Given the description of an element on the screen output the (x, y) to click on. 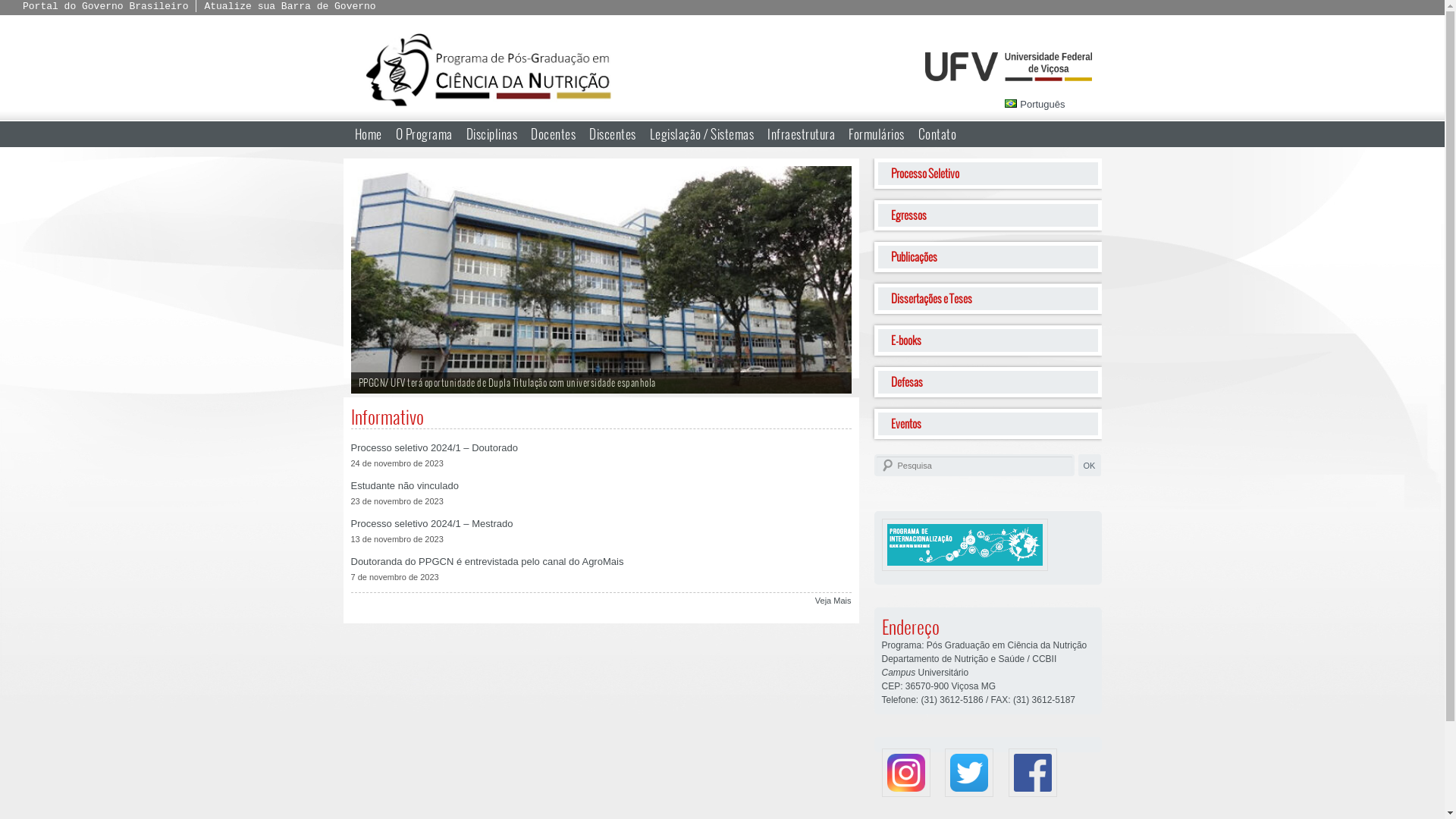
OK Element type: text (1089, 465)
Home Element type: text (367, 133)
Discentes Element type: text (612, 133)
Docentes Element type: text (553, 133)
Veja Mais Element type: text (833, 600)
O Programa Element type: text (423, 133)
Portal do Governo Brasileiro Element type: text (105, 6)
Processo Seletivo Element type: text (987, 173)
Eventos Element type: text (987, 423)
Atualize sua Barra de Governo Element type: text (289, 6)
E-books Element type: text (987, 340)
26_o Element type: hover (600, 279)
Disciplinas Element type: text (491, 133)
Infraestrutura Element type: text (800, 133)
Egressos Element type: text (987, 215)
Defesas Element type: text (987, 382)
Contato Element type: text (937, 133)
